Given the description of an element on the screen output the (x, y) to click on. 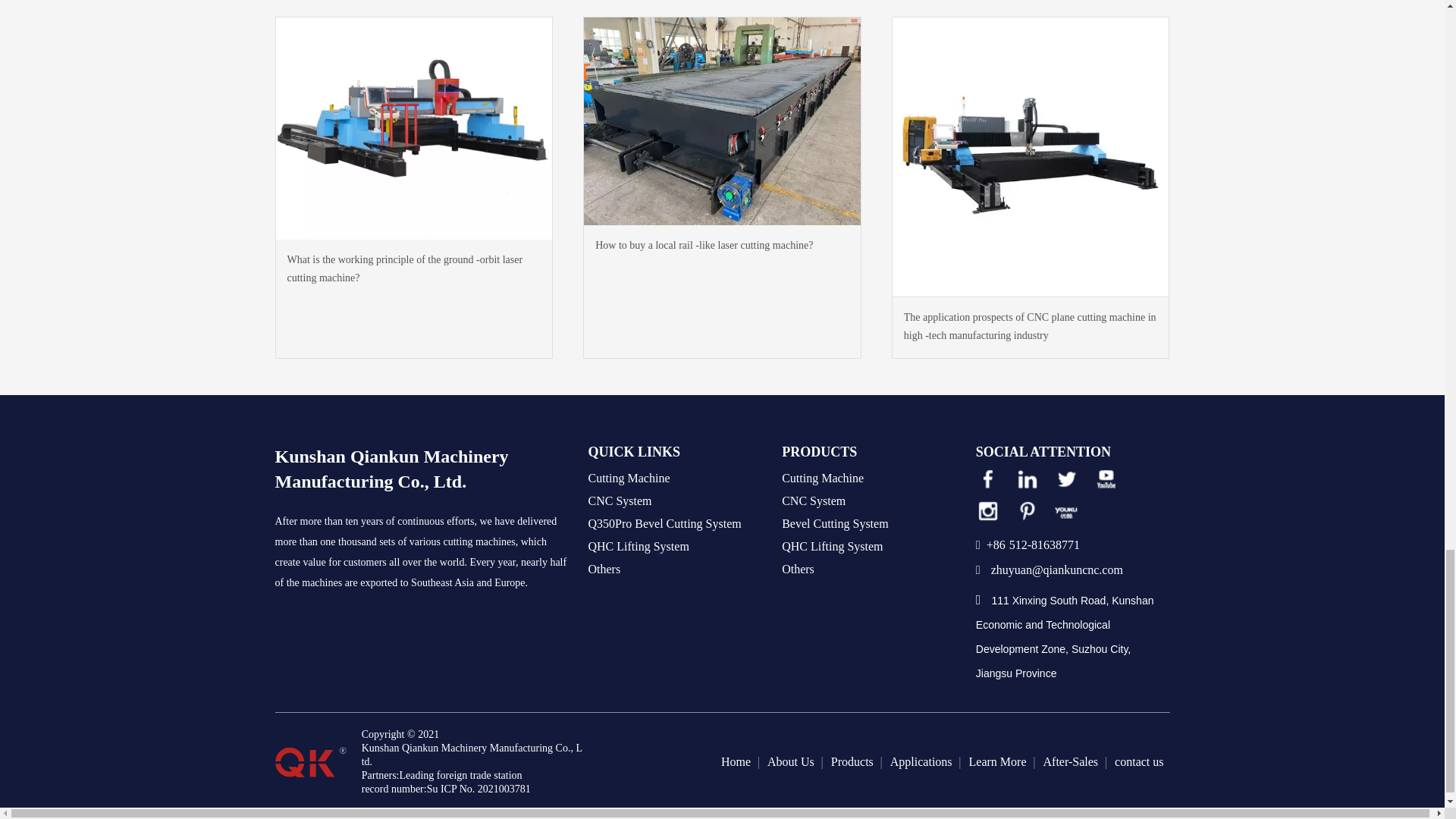
How to buy a local rail -like laser cutting machine? (721, 245)
Others (604, 568)
Q350Pro Bevel Cutting System (664, 523)
QHC Lifting System (638, 546)
QHC Lifting System (831, 546)
How to buy a local rail -like laser cutting machine? (721, 120)
Cutting Machine (628, 477)
CNC System (620, 500)
CNC System (620, 500)
QHC Lifting System (638, 546)
Cutting Machine (628, 477)
